Given the description of an element on the screen output the (x, y) to click on. 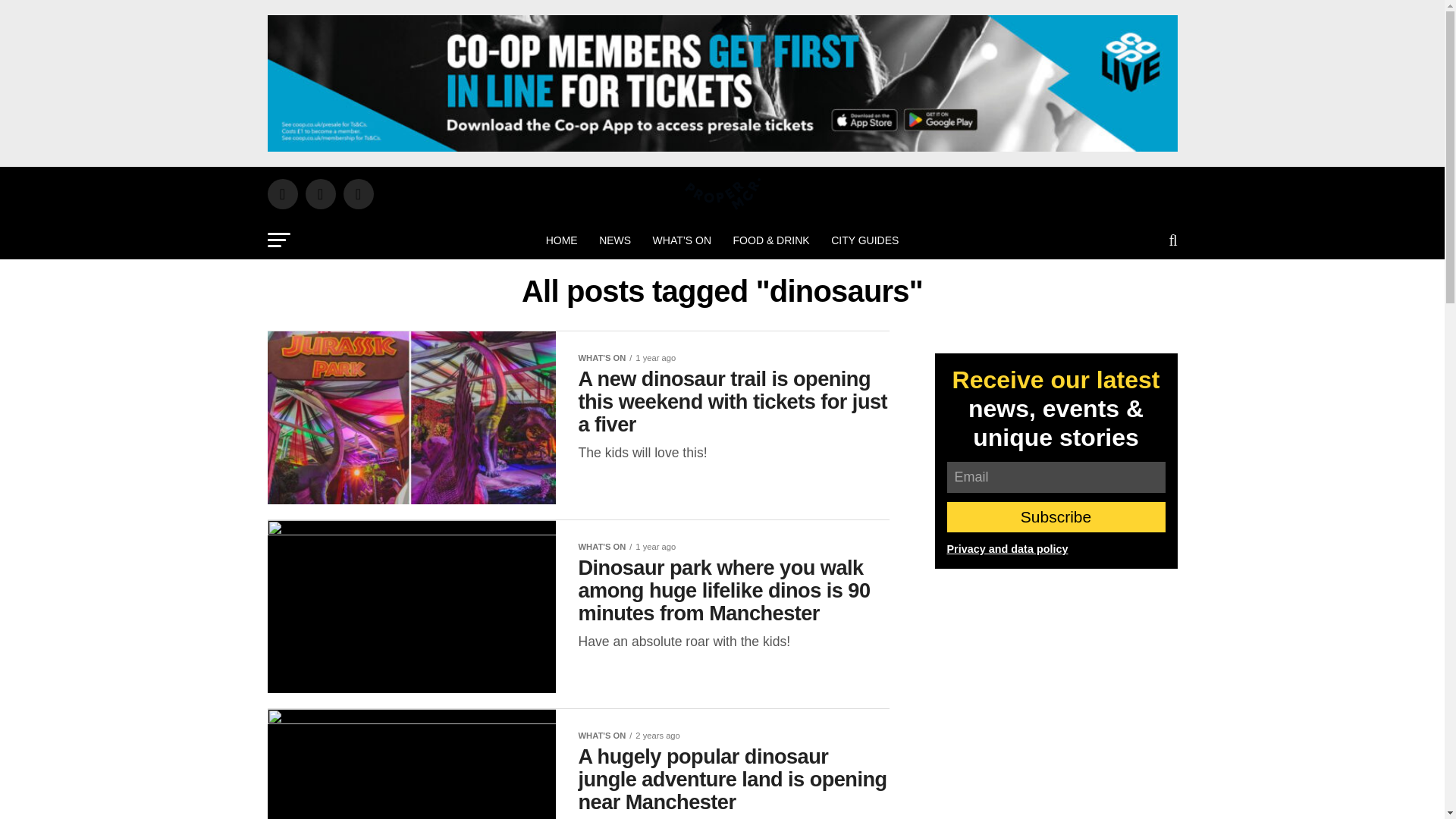
NEWS (614, 240)
Privacy and data policy (1006, 548)
Subscribe (1055, 517)
CITY GUIDES (864, 240)
Subscribe (1055, 517)
HOME (561, 240)
